Given the description of an element on the screen output the (x, y) to click on. 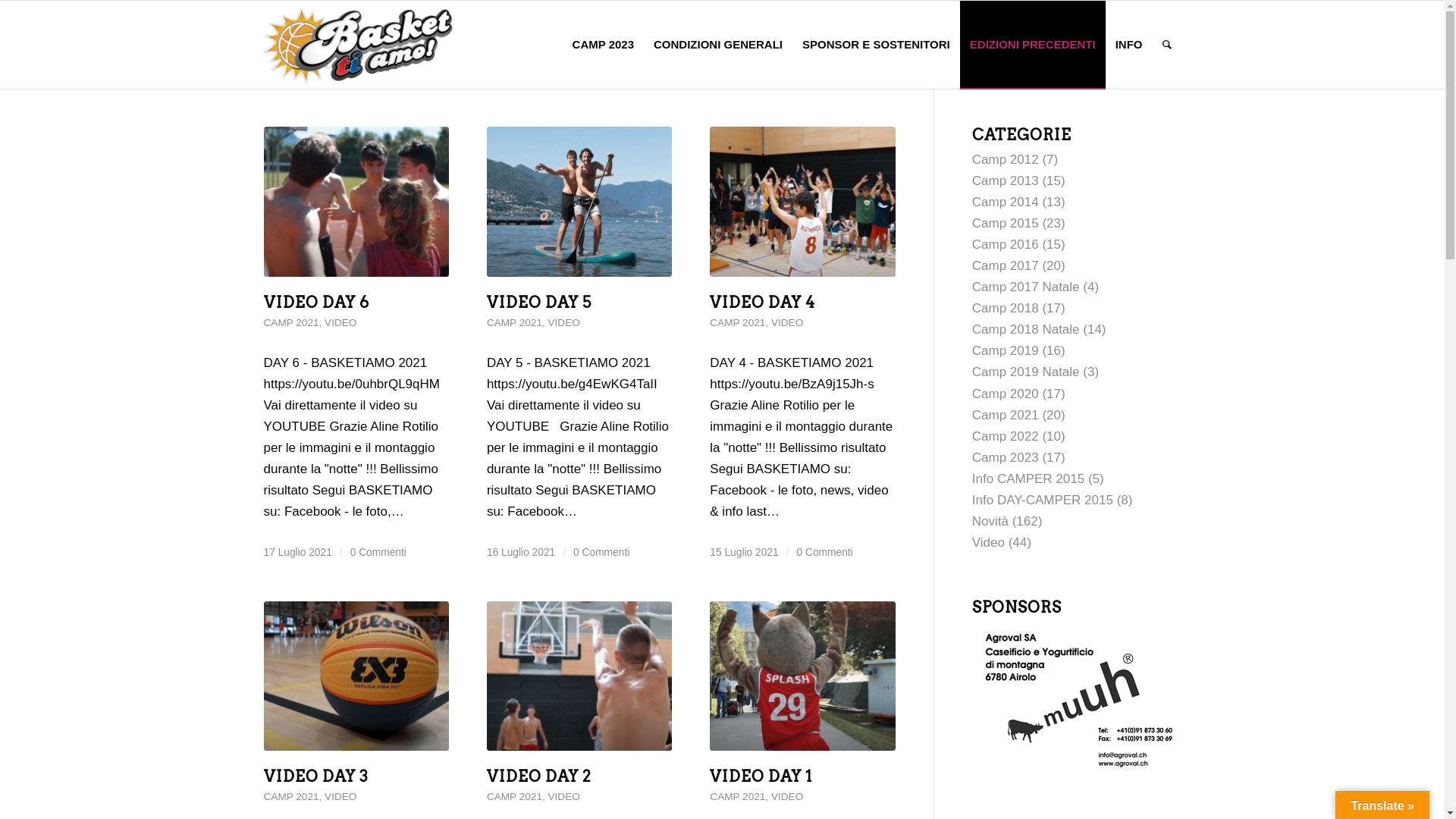
0 Commenti Element type: text (601, 552)
Camp 2014 Element type: text (1005, 201)
CAMP 2021 Element type: text (737, 322)
VIDEO DAY 4 Element type: text (762, 301)
VIDEO Element type: text (340, 322)
Camp 2017 Element type: text (1005, 265)
Camp 2012 Element type: text (1005, 159)
Video DAY 6 Element type: hover (355, 201)
Camp 2020 Element type: text (1005, 393)
VIDEO DAY 2 Element type: text (538, 776)
Camp 2021 Element type: text (1005, 414)
VIDEO Element type: text (787, 322)
Camp 2013 Element type: text (1005, 180)
Camp 2018 Element type: text (1005, 308)
VIDEO DAY 5 Element type: text (538, 301)
VIDEO DAY 6 Element type: text (316, 301)
Video DAY 3 Element type: hover (355, 676)
INFO Element type: text (1128, 44)
CAMP 2023 Element type: text (602, 44)
Info CAMPER 2015 Element type: text (1028, 478)
Camp 2023 Element type: text (1005, 457)
CONDIZIONI GENERALI Element type: text (717, 44)
SPONSOR E SOSTENITORI Element type: text (876, 44)
VIDEO DAY 3 Element type: text (315, 776)
Video DAY 1 Element type: hover (801, 676)
CAMP 2021 Element type: text (737, 796)
Video DAY 4 Element type: hover (801, 201)
CAMP 2021 Element type: text (291, 796)
Video DAY 2 Element type: hover (578, 676)
Camp 2015 Element type: text (1005, 223)
Camp 2016 Element type: text (1005, 244)
Agroval Element type: hover (1075, 698)
VIDEO Element type: text (787, 796)
CAMP 2021 Element type: text (514, 322)
0 Commenti Element type: text (378, 552)
VIDEO Element type: text (564, 796)
VIDEO Element type: text (564, 322)
Camp 2022 Element type: text (1005, 436)
VIDEO DAY 1 Element type: text (760, 776)
VIDEO Element type: text (340, 796)
Video DAY 5 Element type: hover (578, 201)
Camp 2019 Natale Element type: text (1025, 371)
EDIZIONI PRECEDENTI Element type: text (1032, 44)
Camp 2017 Natale Element type: text (1025, 286)
CAMP 2021 Element type: text (514, 796)
0 Commenti Element type: text (824, 552)
Video Element type: text (988, 542)
Info DAY-CAMPER 2015 Element type: text (1042, 499)
CAMP 2021 Element type: text (291, 322)
Camp 2018 Natale Element type: text (1025, 329)
Camp 2019 Element type: text (1005, 350)
